Given the description of an element on the screen output the (x, y) to click on. 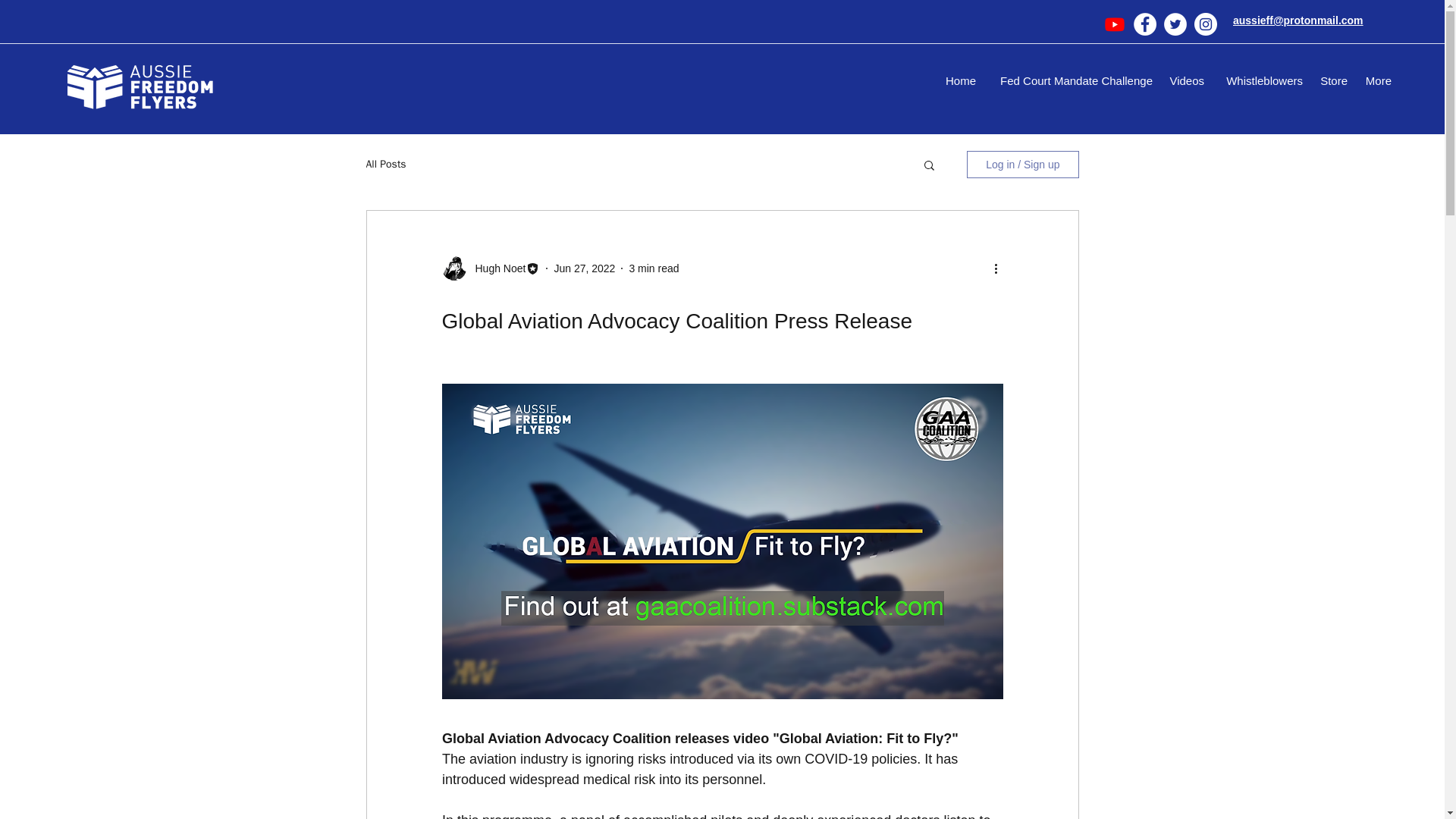
Fed Court Mandate Challenge (1072, 80)
Whistleblowers (1260, 80)
3 min read (653, 268)
Hugh Noet (495, 268)
Store (1332, 80)
All Posts (385, 164)
Home (960, 80)
Videos (1185, 80)
Jun 27, 2022 (583, 268)
